Given the description of an element on the screen output the (x, y) to click on. 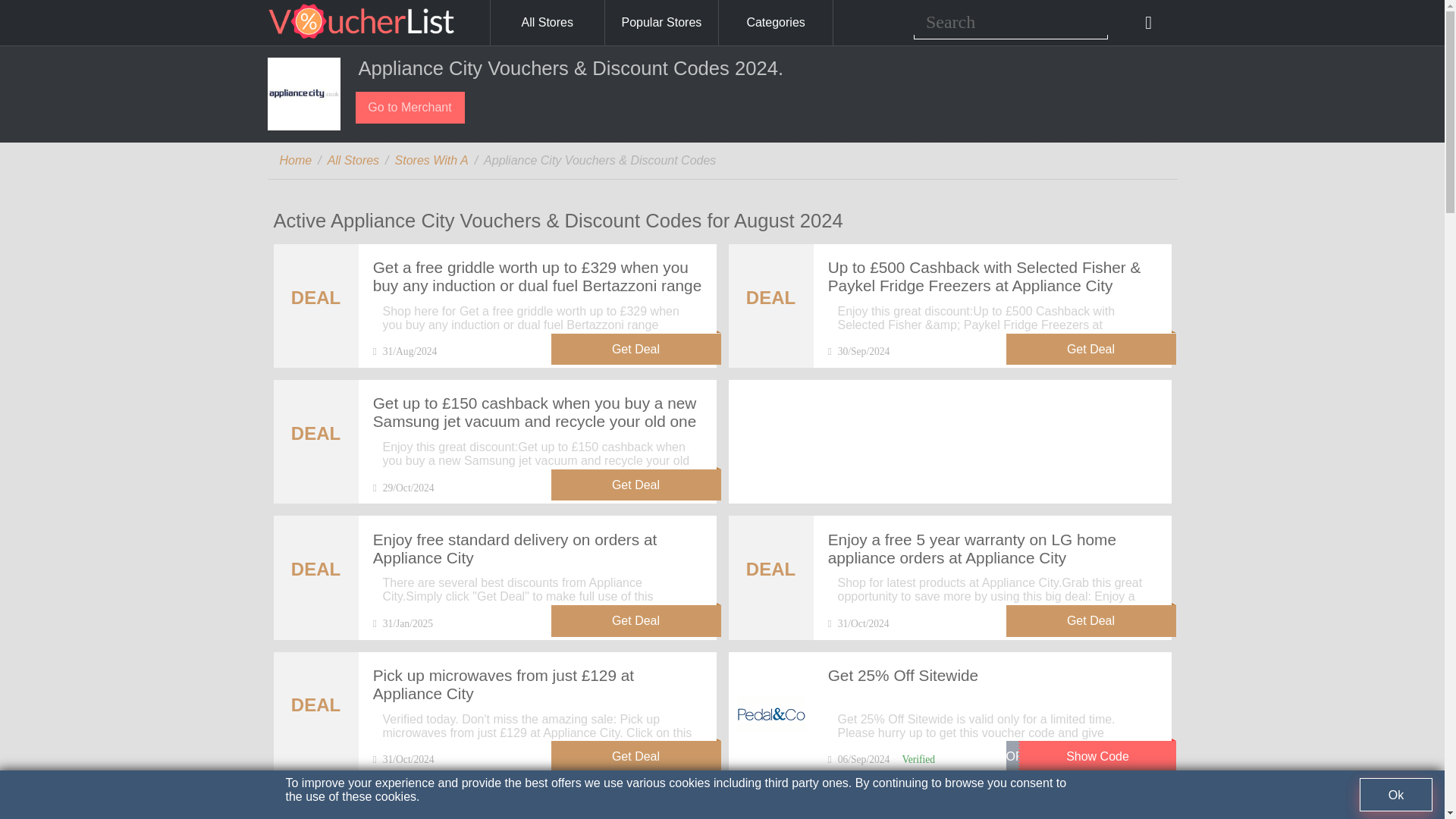
Expires (402, 758)
Appliance City (302, 93)
Expires (858, 351)
Advertisement (949, 428)
verified (917, 758)
Expires (858, 623)
Expires (858, 758)
Expires (405, 351)
Expires (402, 623)
Expires (402, 487)
